Given the description of an element on the screen output the (x, y) to click on. 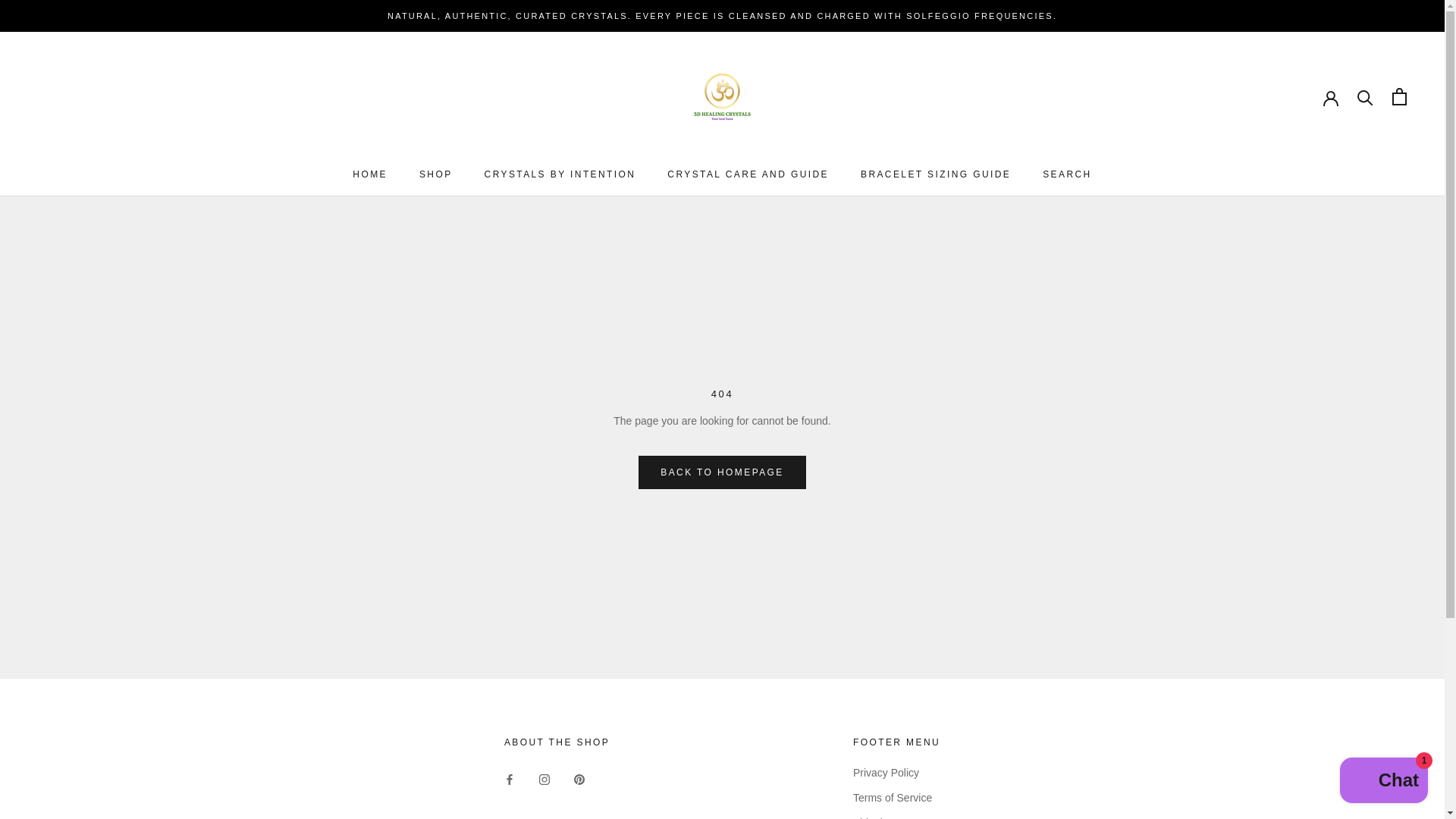
CRYSTAL CARE AND GUIDE (435, 173)
Shopify online store chat (935, 173)
BACK TO HOMEPAGE (369, 173)
CRYSTALS BY INTENTION (747, 173)
Privacy Policy (1383, 781)
